Given the description of an element on the screen output the (x, y) to click on. 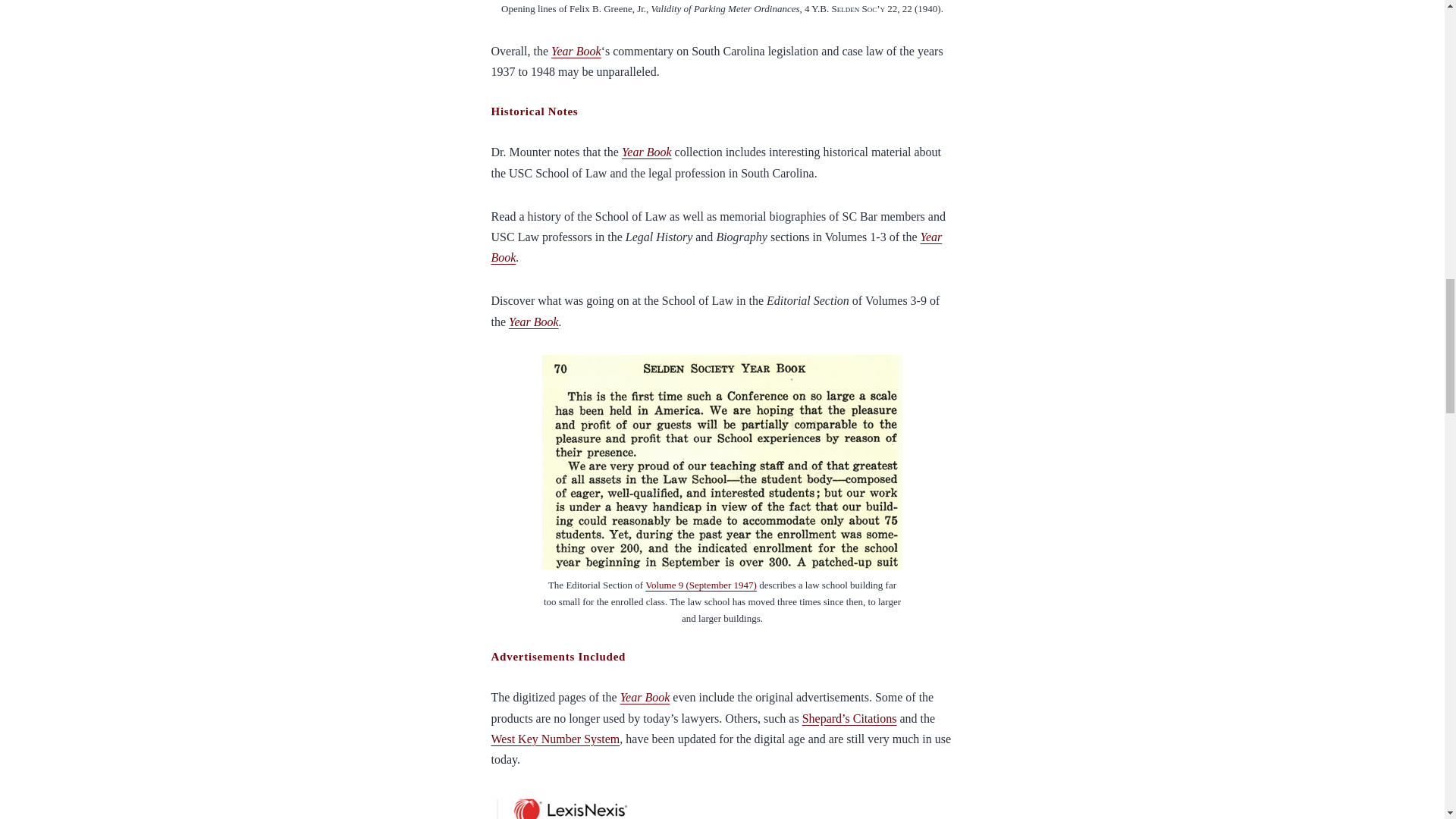
Year Book (646, 151)
Year Book (644, 697)
Year Book (533, 321)
Year Book (576, 51)
Year Book (717, 246)
West Key Number System (556, 738)
